Given the description of an element on the screen output the (x, y) to click on. 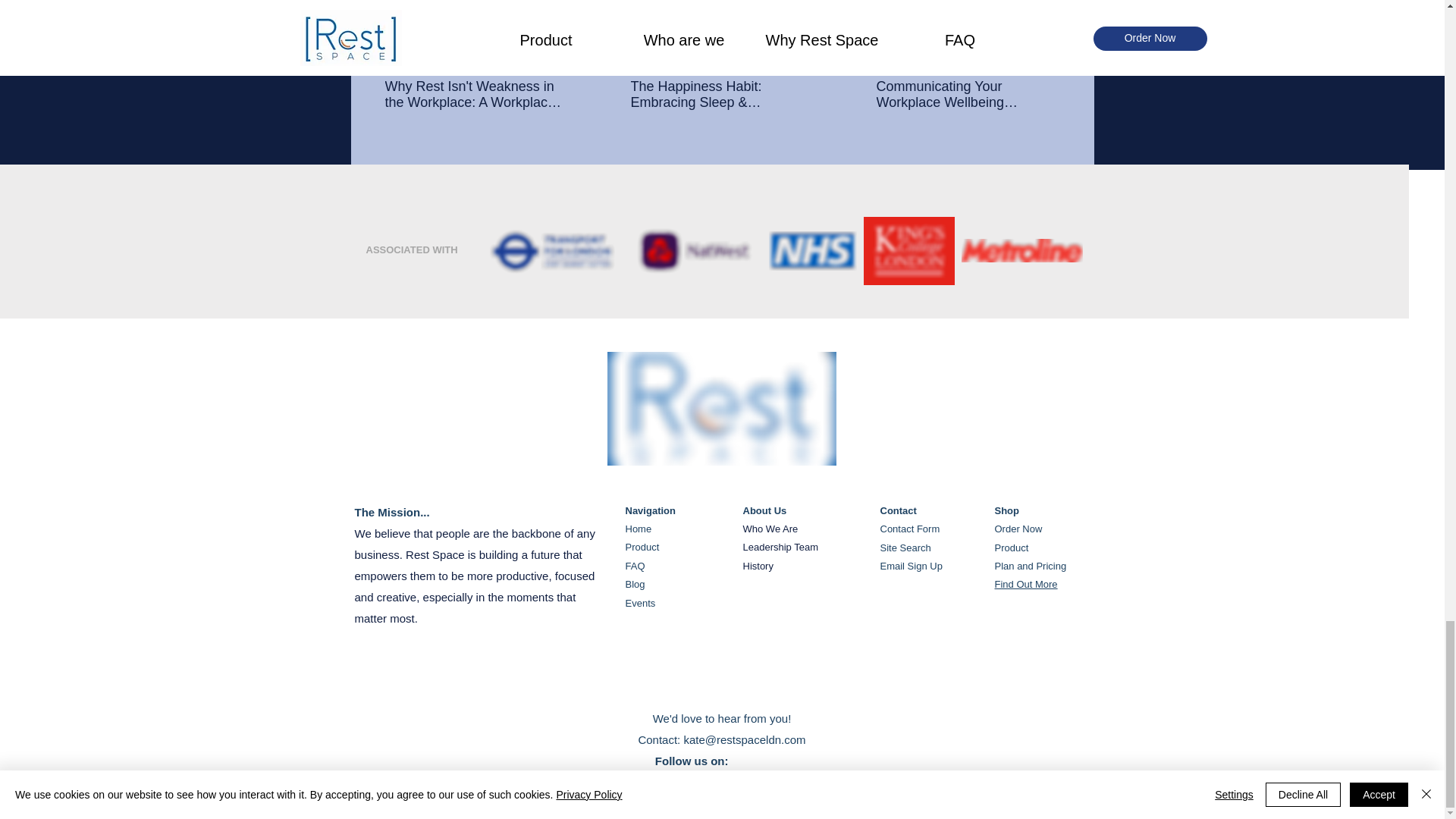
Product (641, 546)
Who We Are (769, 528)
Home (637, 528)
FAQ (634, 565)
Events (639, 603)
Blog (634, 583)
About Us (764, 510)
Leadership Team (780, 546)
